Given the description of an element on the screen output the (x, y) to click on. 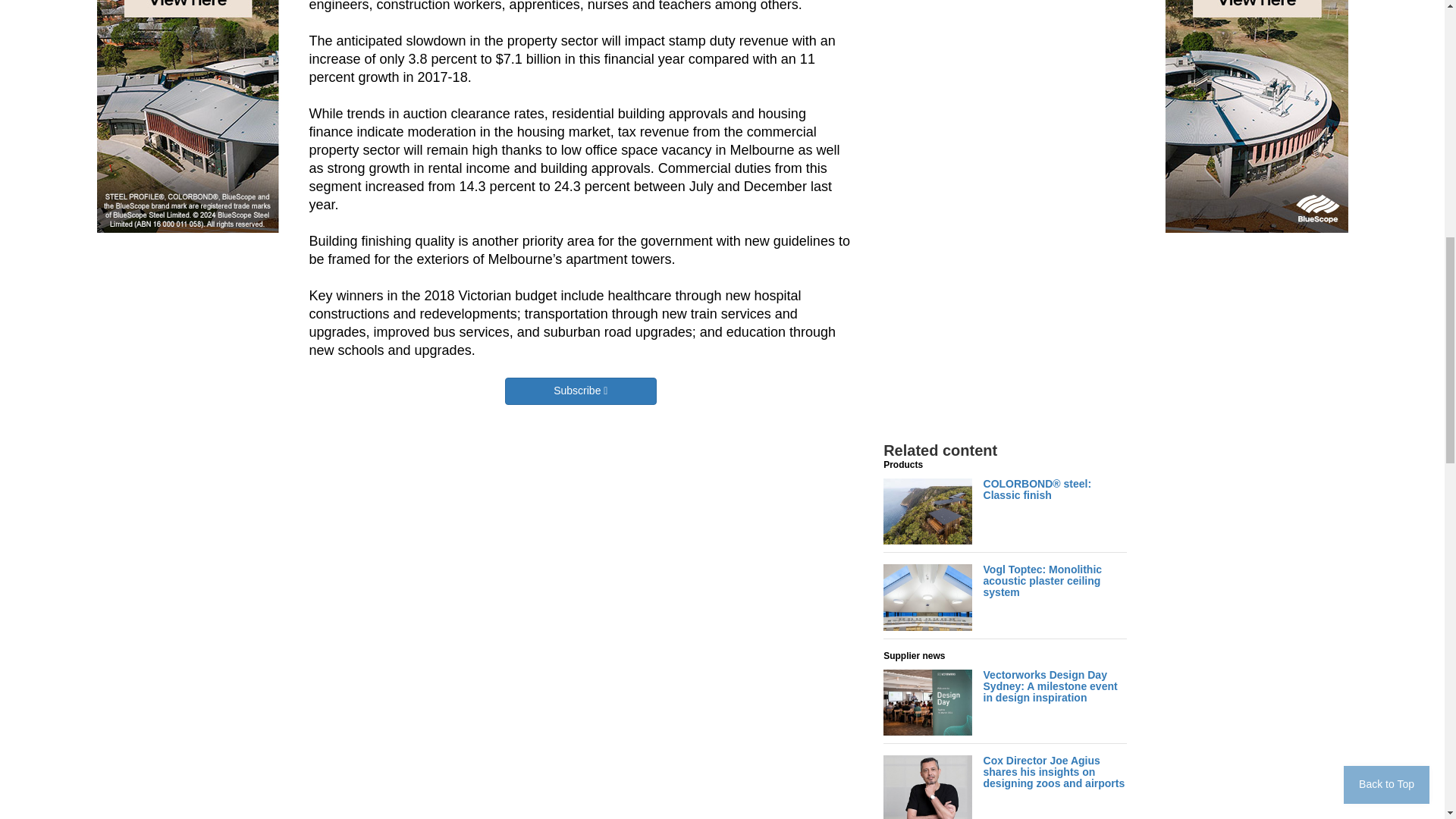
3rd party ad content (1011, 127)
3rd party ad content (1011, 332)
3rd party ad content (1011, 9)
